Given the description of an element on the screen output the (x, y) to click on. 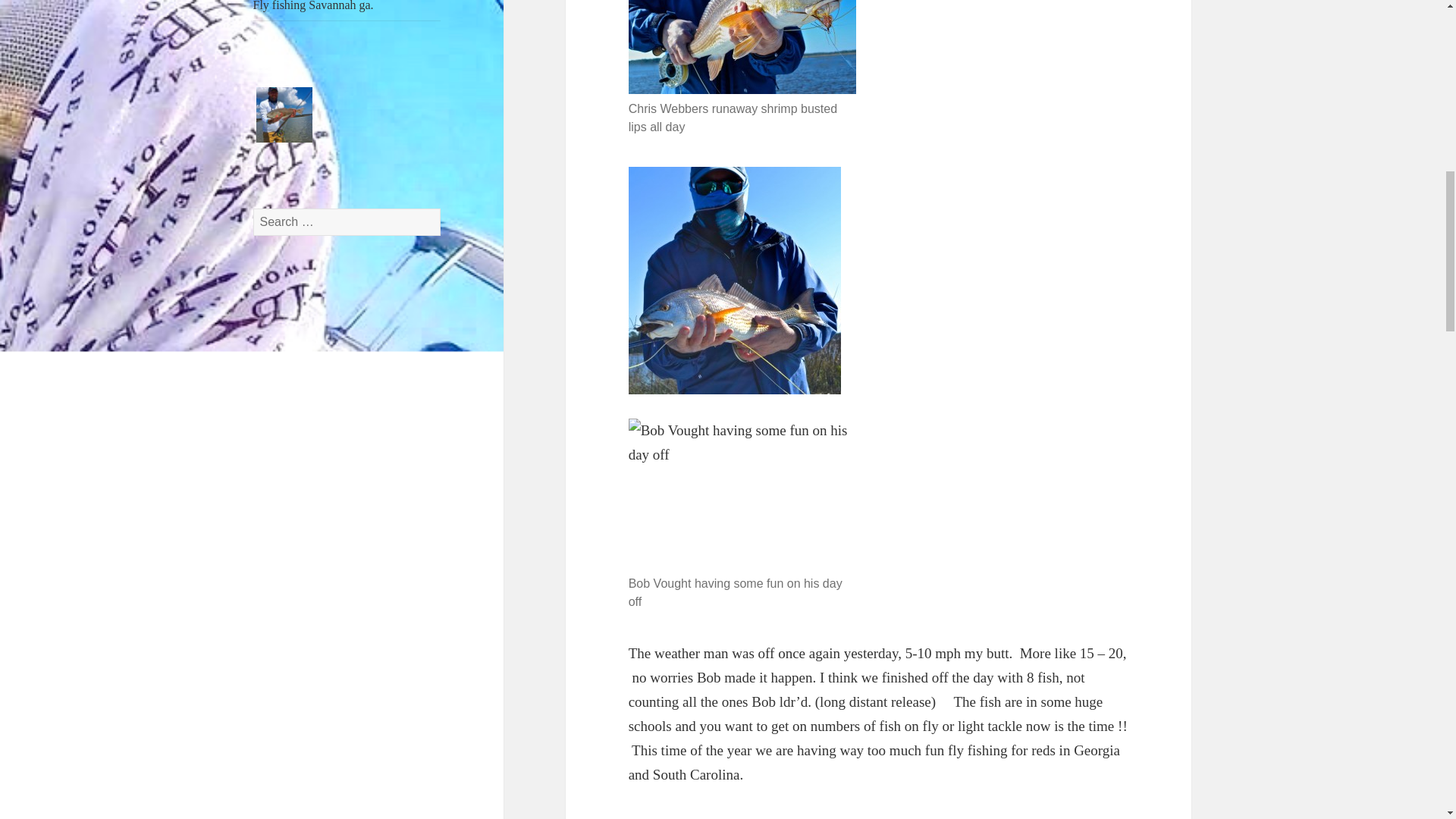
Fly fishing Savannah ga. (347, 10)
